Given the description of an element on the screen output the (x, y) to click on. 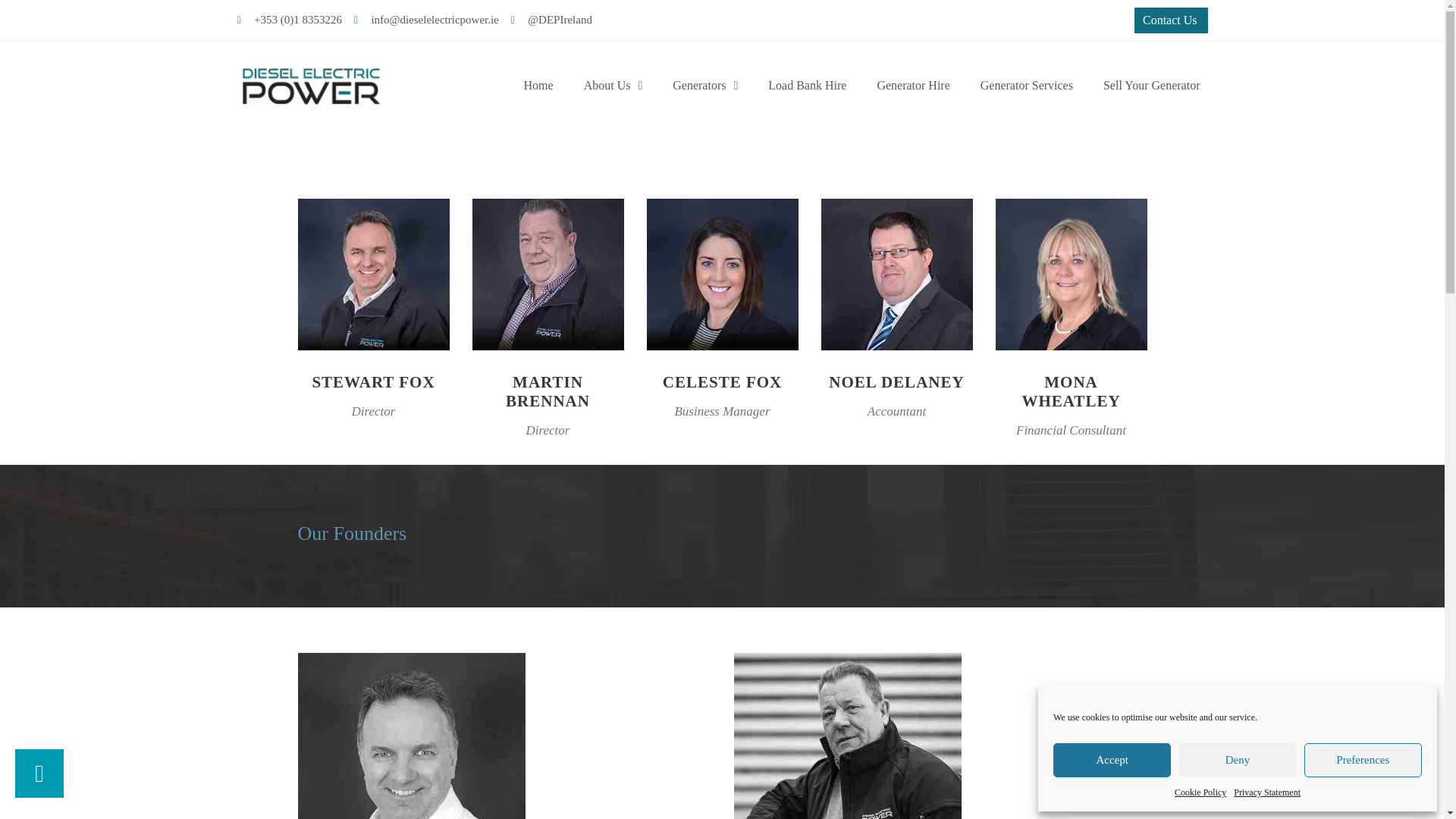
Contact Us (1171, 20)
Accept (1111, 759)
Preferences (1363, 759)
Deny (1236, 759)
About Us (613, 85)
Load Bank Hire (806, 85)
Generators (705, 85)
Generator Hire (912, 85)
Privacy Statement (1266, 792)
Home (538, 85)
Generator Services (1026, 85)
Cookie Policy (1199, 792)
Sell Your Generator (1151, 85)
